Given the description of an element on the screen output the (x, y) to click on. 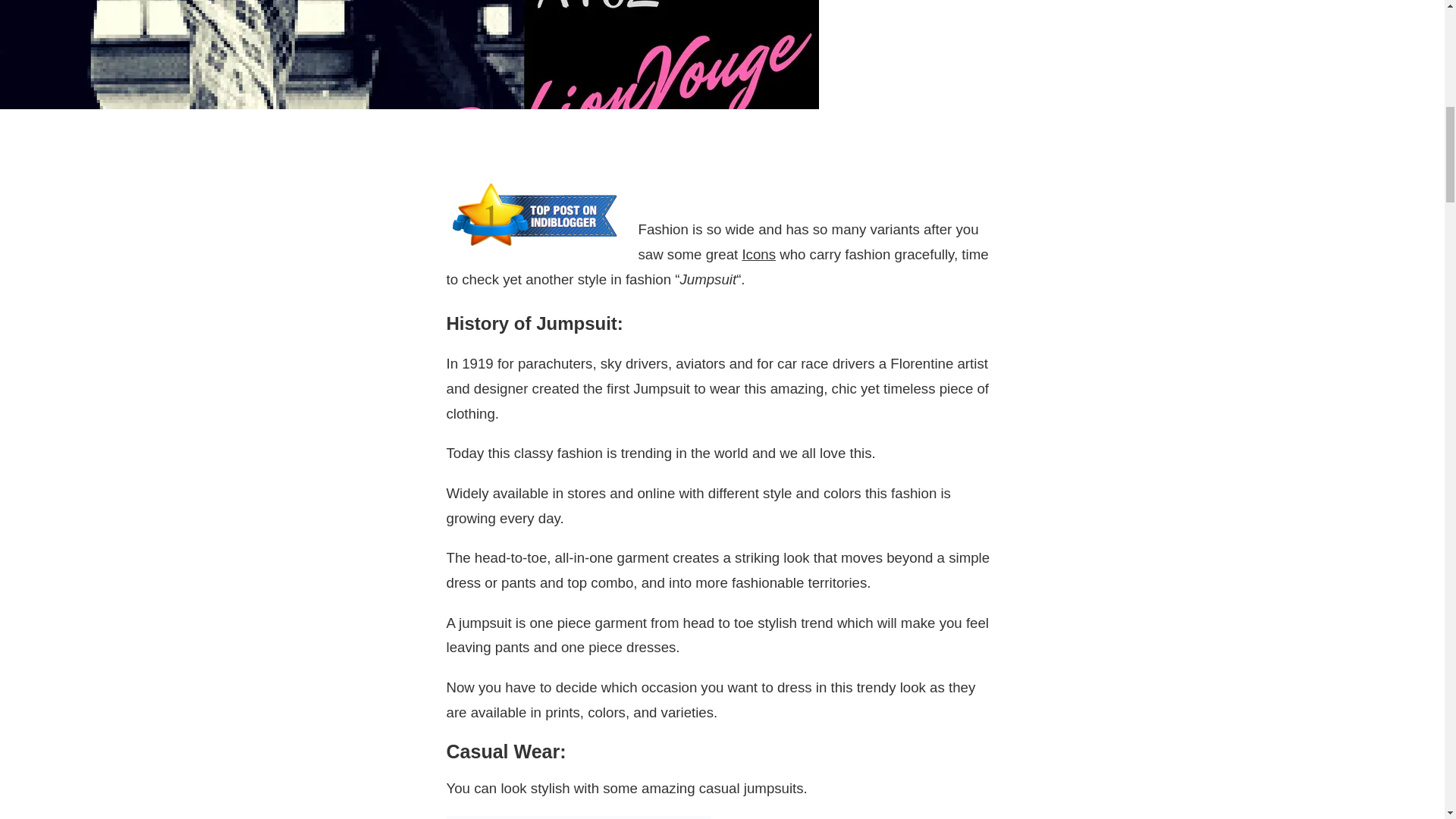
Icons (758, 254)
